Given the description of an element on the screen output the (x, y) to click on. 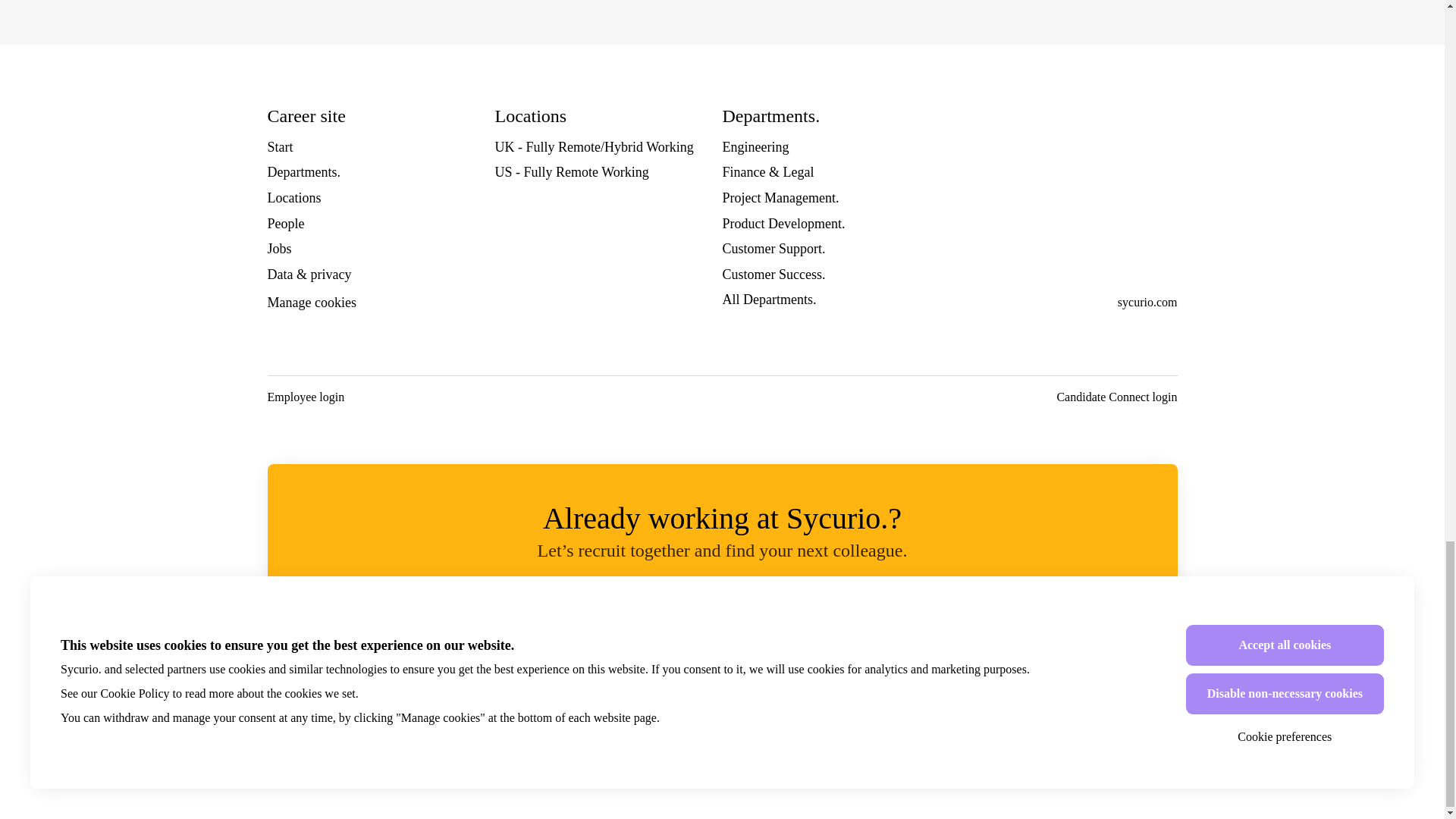
Departments. (302, 171)
Mandy Pattenden (536, 677)
All Departments. (768, 299)
Kevin Clancy (759, 677)
Locations (293, 197)
Seetaramaiah Thopuri (610, 677)
Manage cookies (310, 302)
Sarathal Arul (462, 677)
Engineering (755, 147)
US - Fully Remote Working (571, 171)
